Given the description of an element on the screen output the (x, y) to click on. 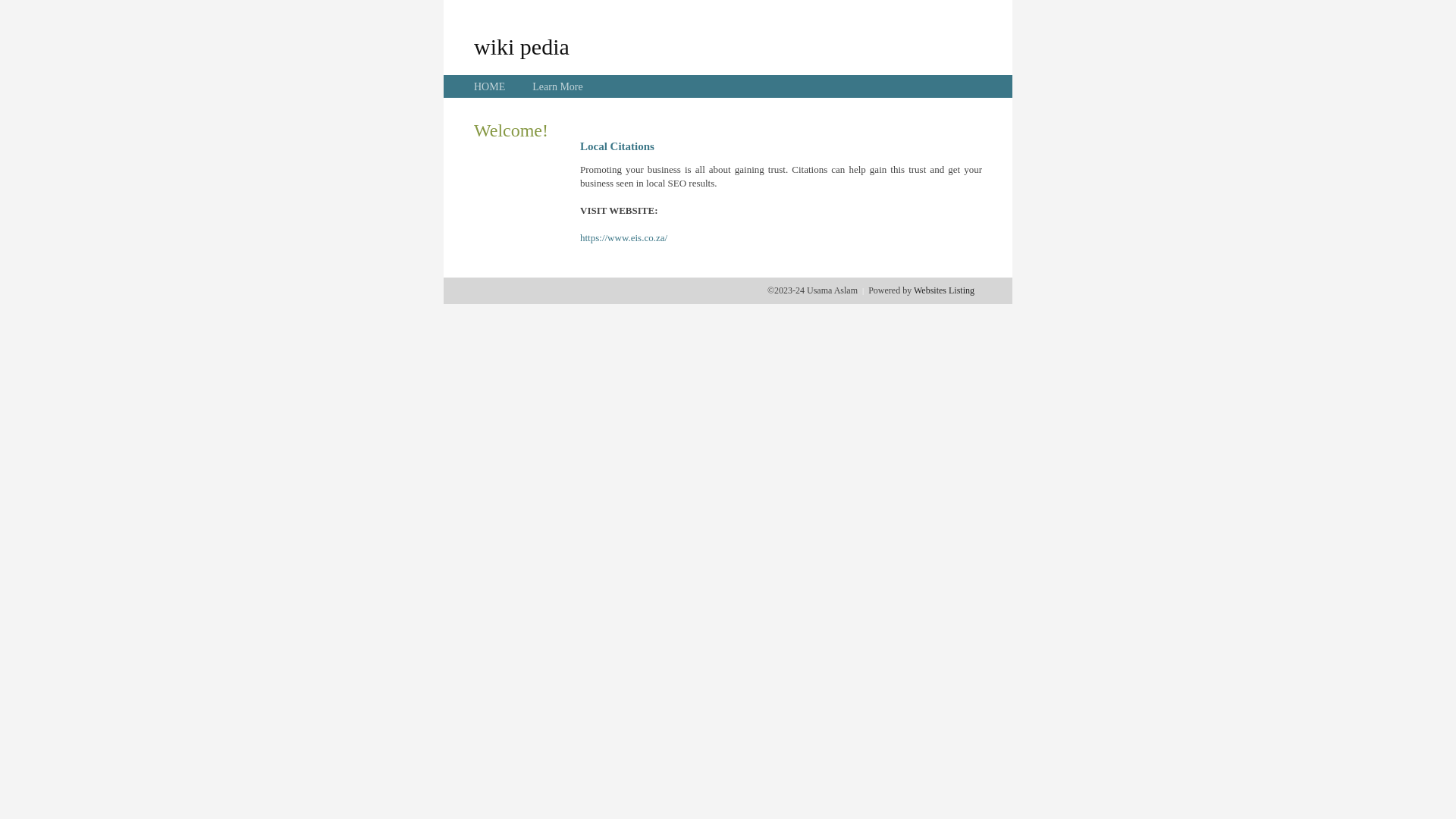
HOME Element type: text (489, 86)
Websites Listing Element type: text (943, 290)
wiki pedia Element type: text (521, 46)
https://www.eis.co.za/ Element type: text (623, 237)
Learn More Element type: text (557, 86)
